Given the description of an element on the screen output the (x, y) to click on. 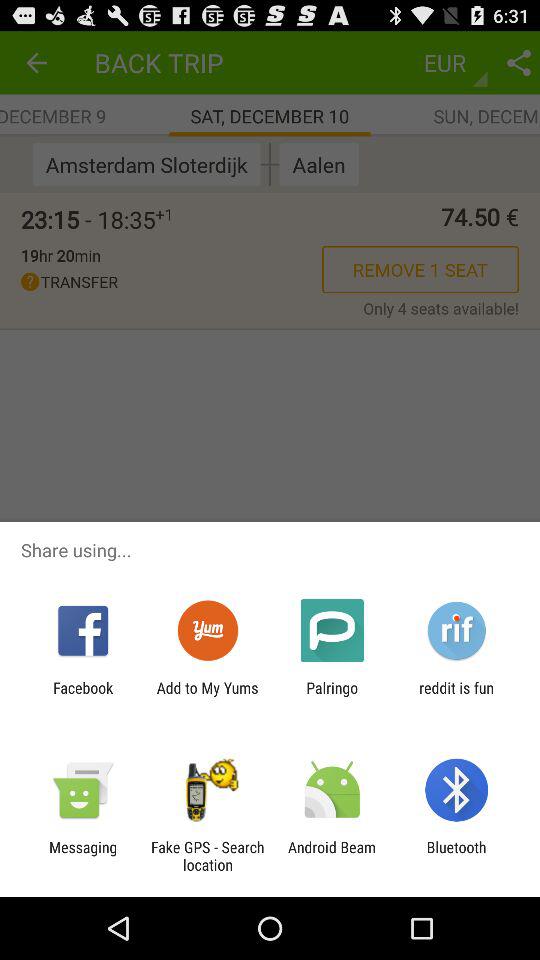
jump to bluetooth app (456, 856)
